Given the description of an element on the screen output the (x, y) to click on. 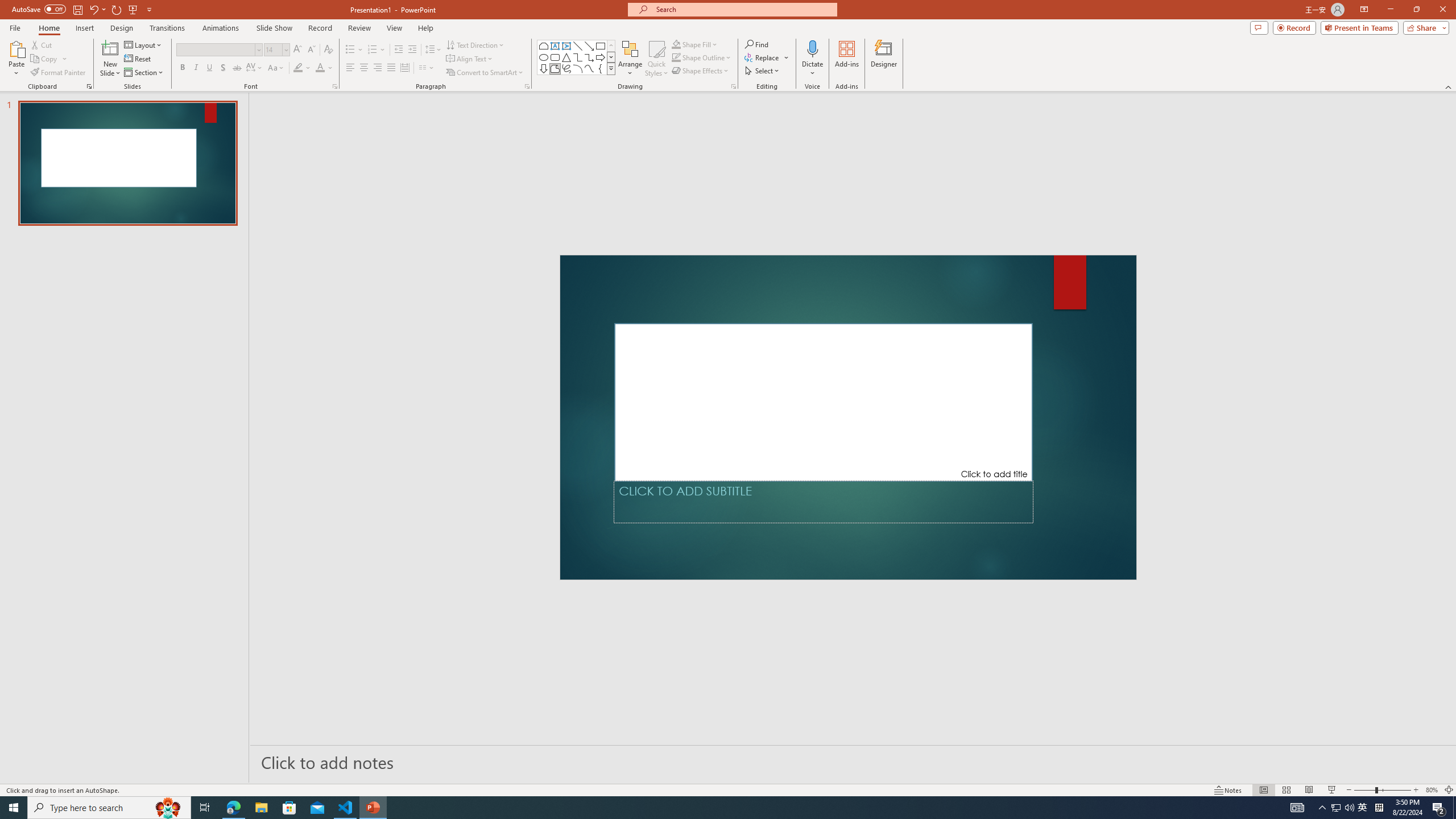
Underline (209, 67)
Shape Outline (701, 56)
Format Object... (733, 85)
Arc (577, 68)
AutomationID: ShapesInsertGallery (576, 57)
